Given the description of an element on the screen output the (x, y) to click on. 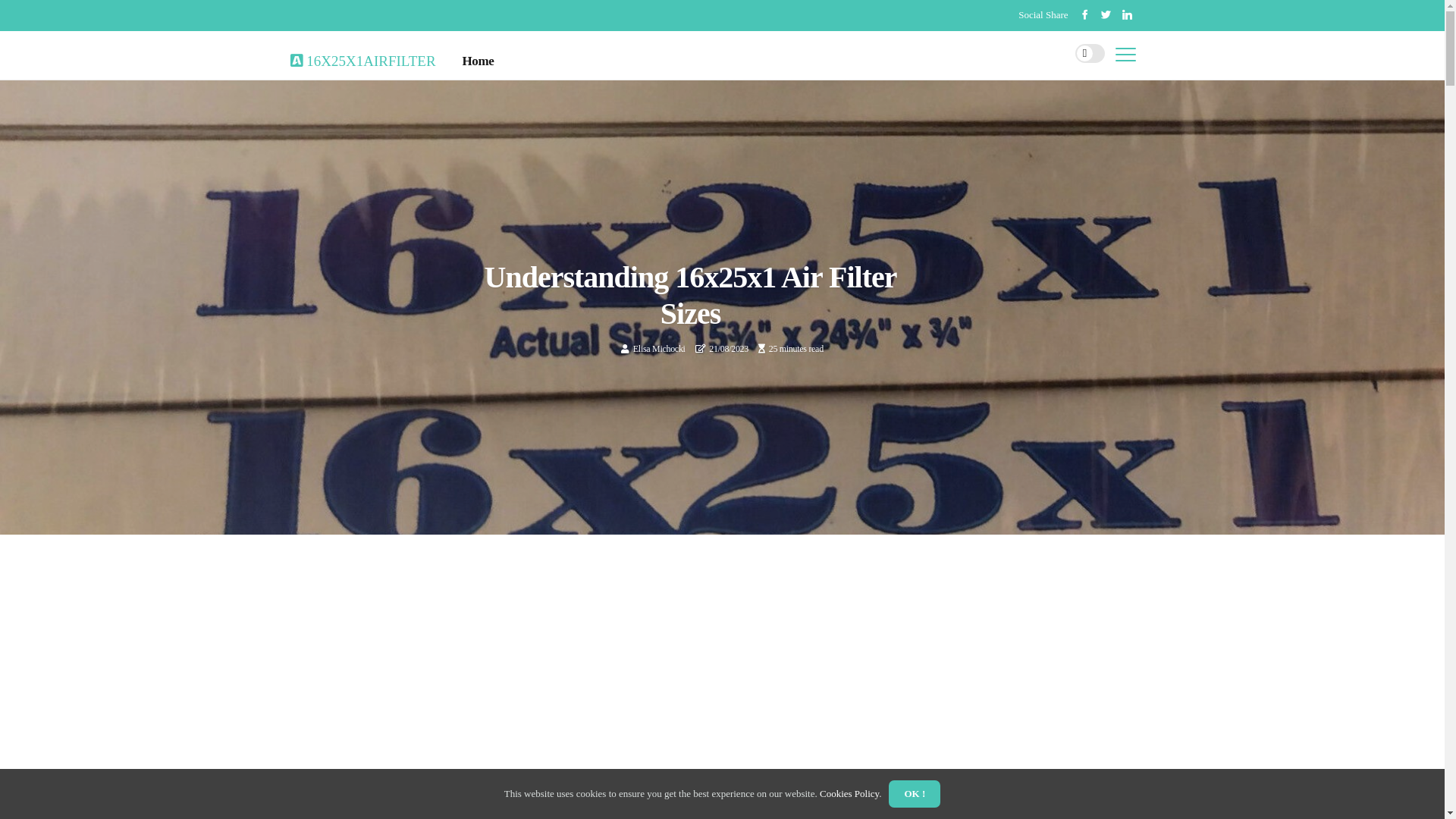
Home Element type: text (478, 61)
Elisa Michocki Element type: text (659, 348)
16x25x1airfilter Element type: text (362, 57)
Cookies Policy Element type: text (848, 793)
